Given the description of an element on the screen output the (x, y) to click on. 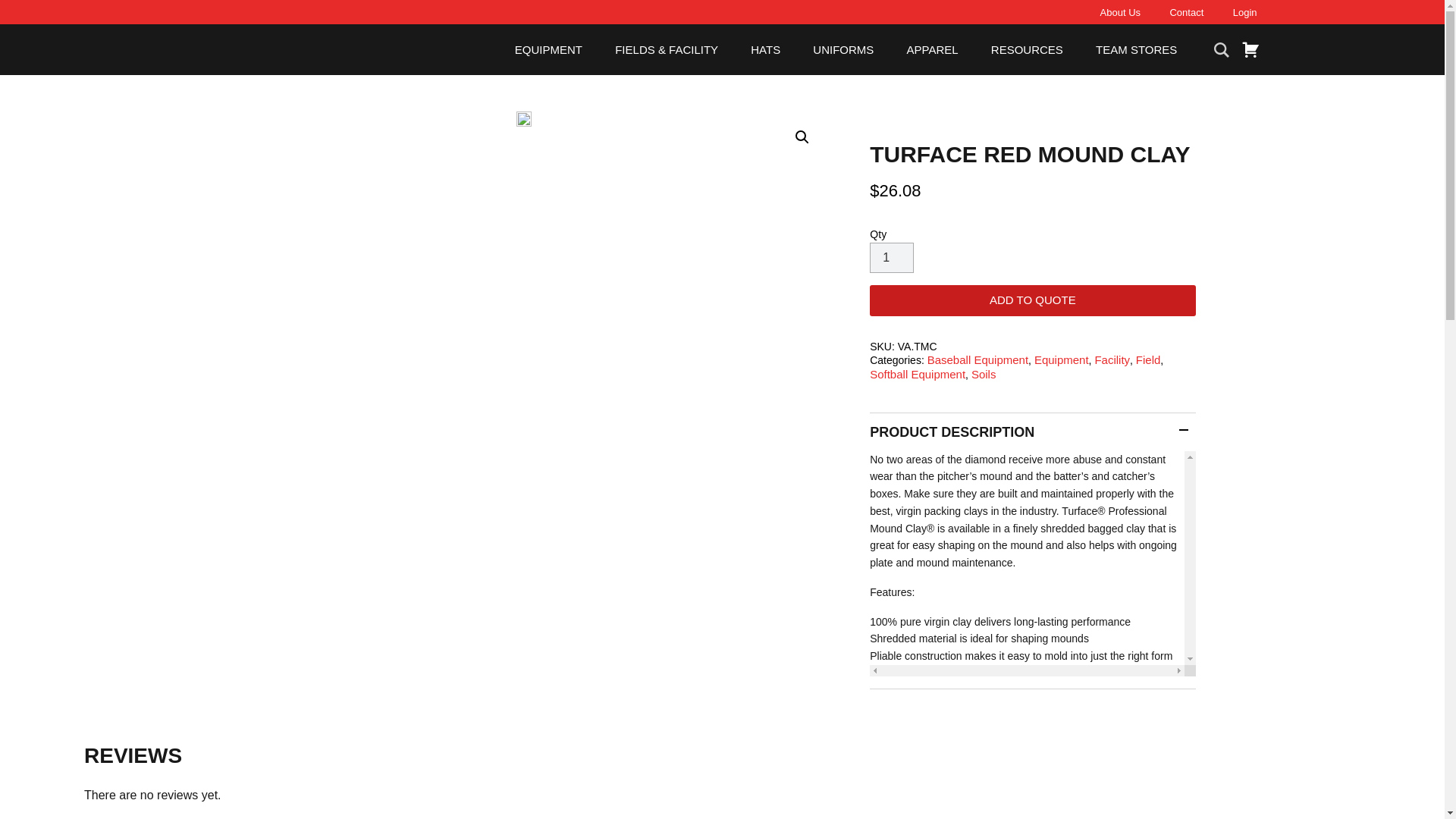
EQUIPMENT (548, 49)
Contact (1186, 12)
Login (1245, 12)
About Us (1120, 12)
1 (891, 257)
View Quote (1248, 48)
Qty (891, 257)
